Given the description of an element on the screen output the (x, y) to click on. 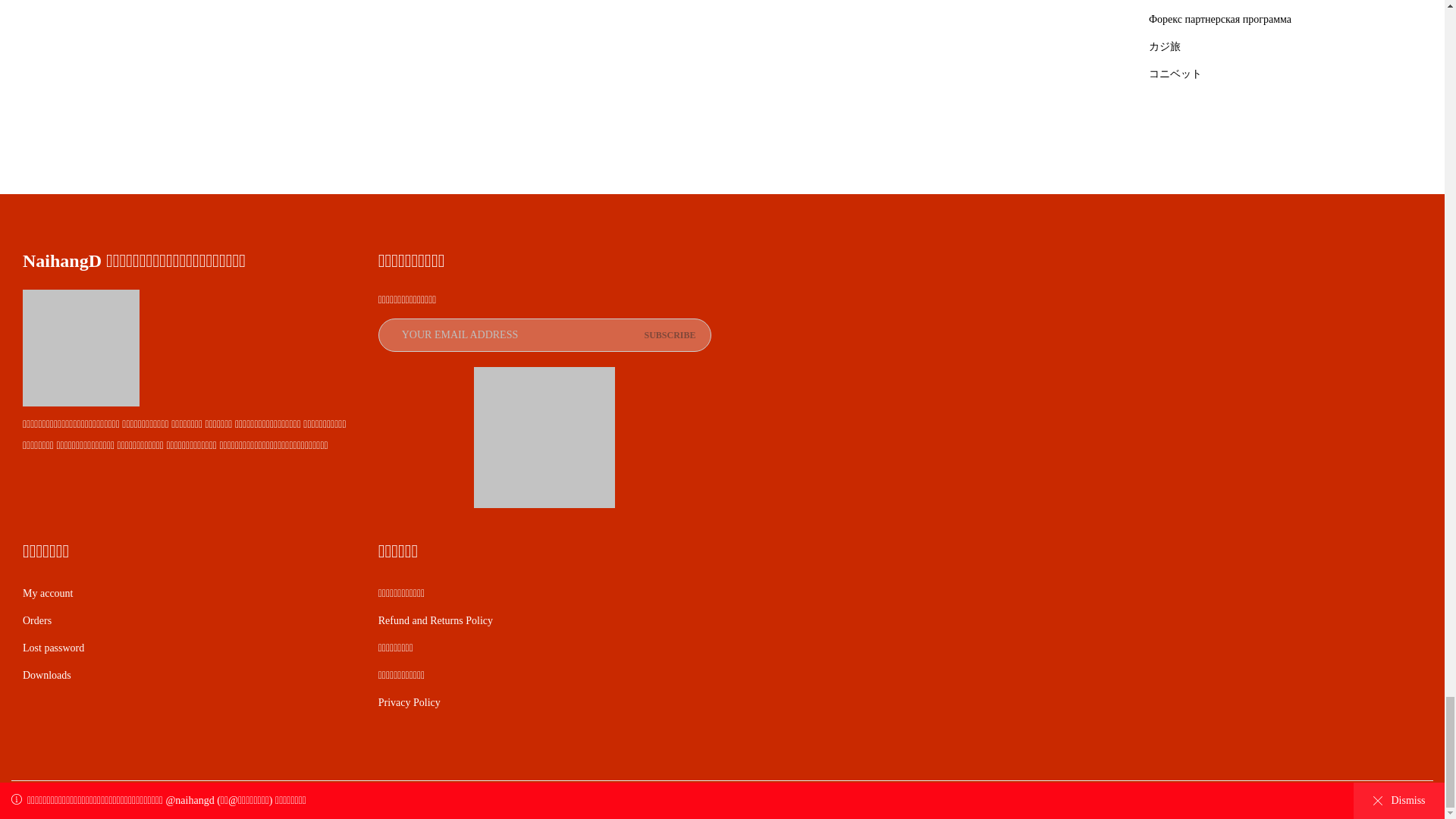
Subscribe (669, 335)
